Given the description of an element on the screen output the (x, y) to click on. 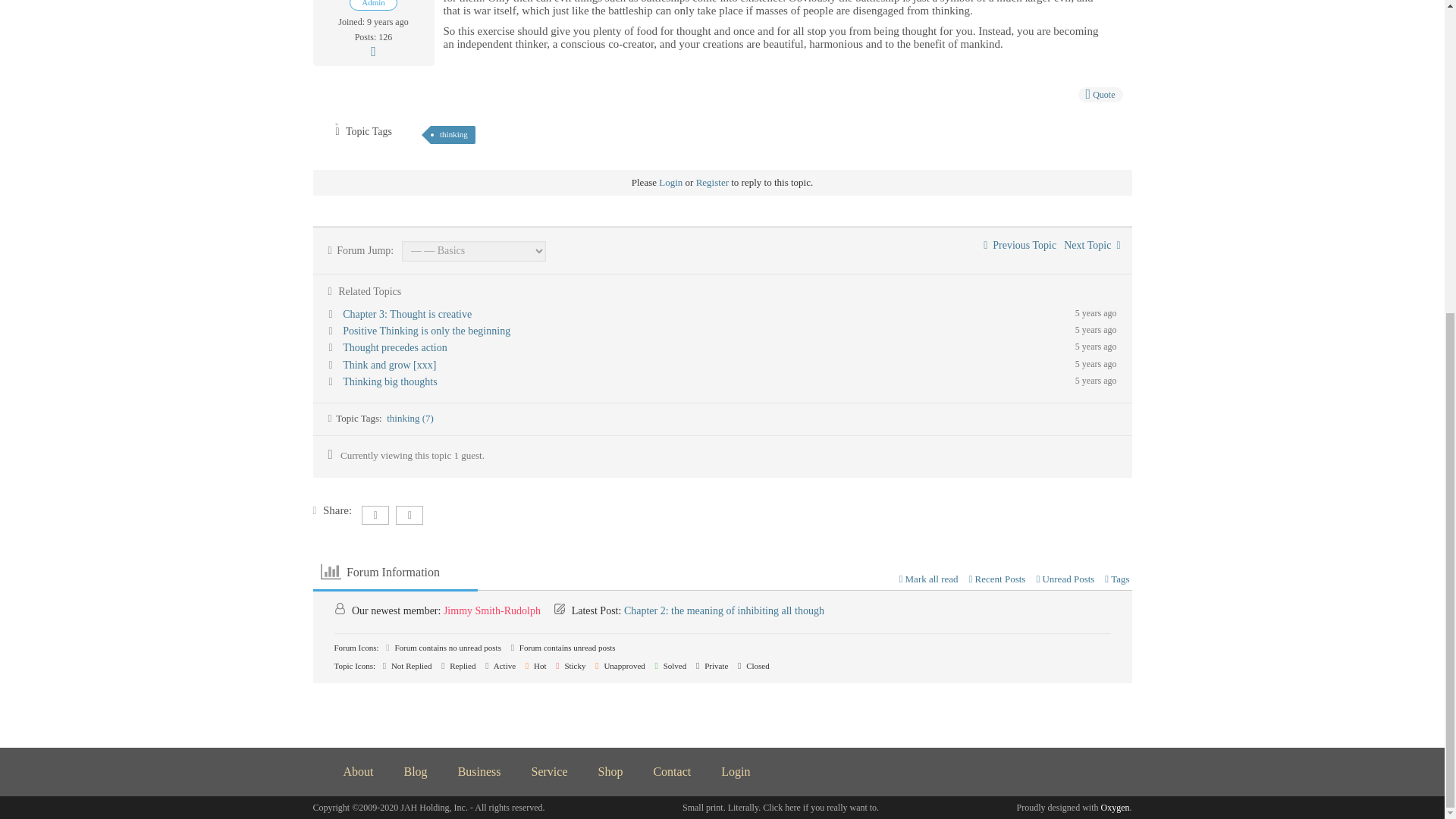
thinking (453, 135)
  Previous Topic (1020, 244)
Login (670, 182)
Thought precedes action (394, 347)
Thinking big thoughts (389, 381)
Usergroup (373, 5)
Chapter 3: Thought is creative (406, 314)
Next Topic   (1091, 244)
Thought precedes action (394, 347)
Chapter 3: Thought is creative (406, 314)
